Given the description of an element on the screen output the (x, y) to click on. 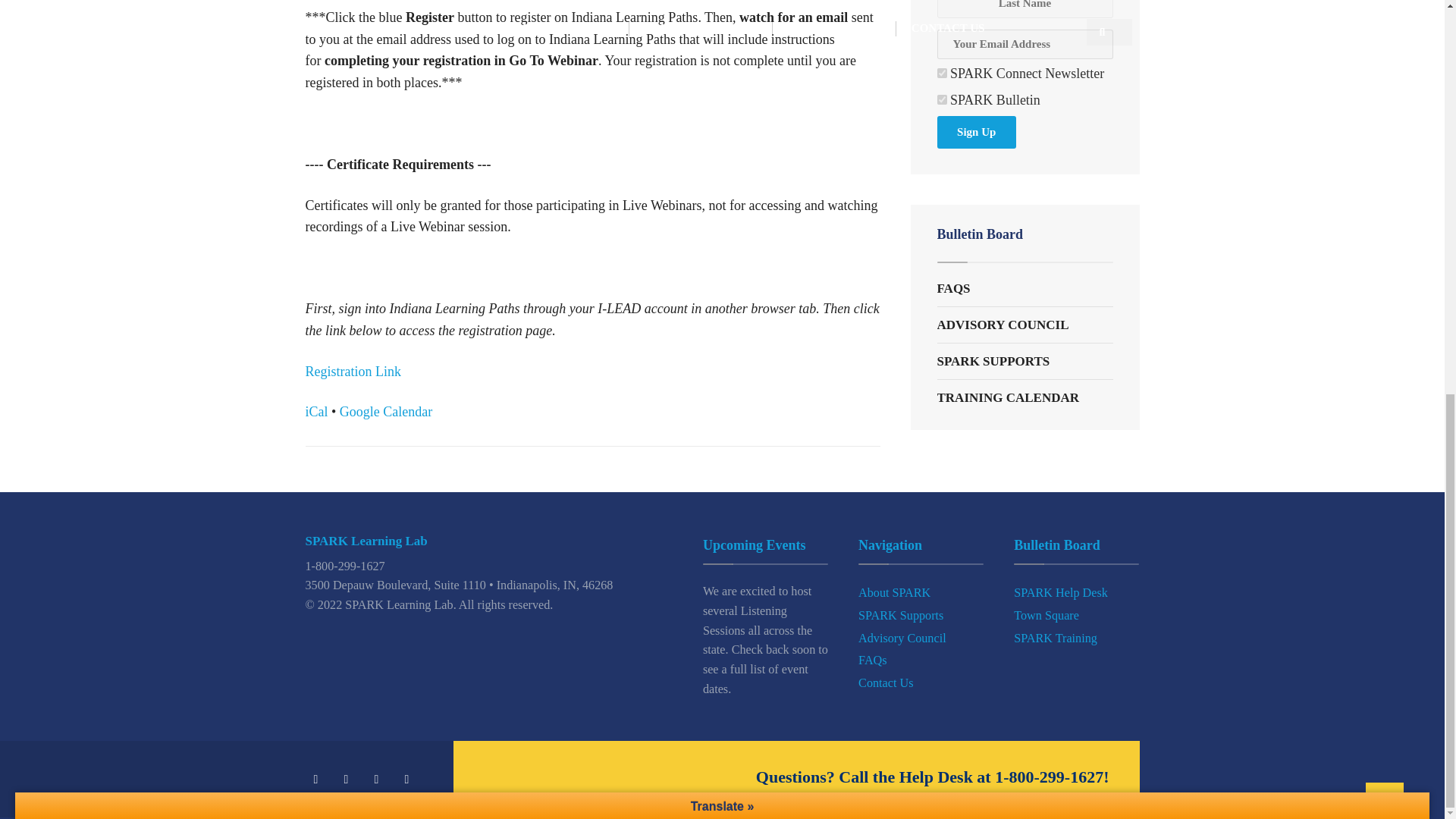
d83bed07cd (942, 99)
c721991d8d (942, 72)
Sign Up (976, 132)
Scroll to top (1384, 44)
